Given the description of an element on the screen output the (x, y) to click on. 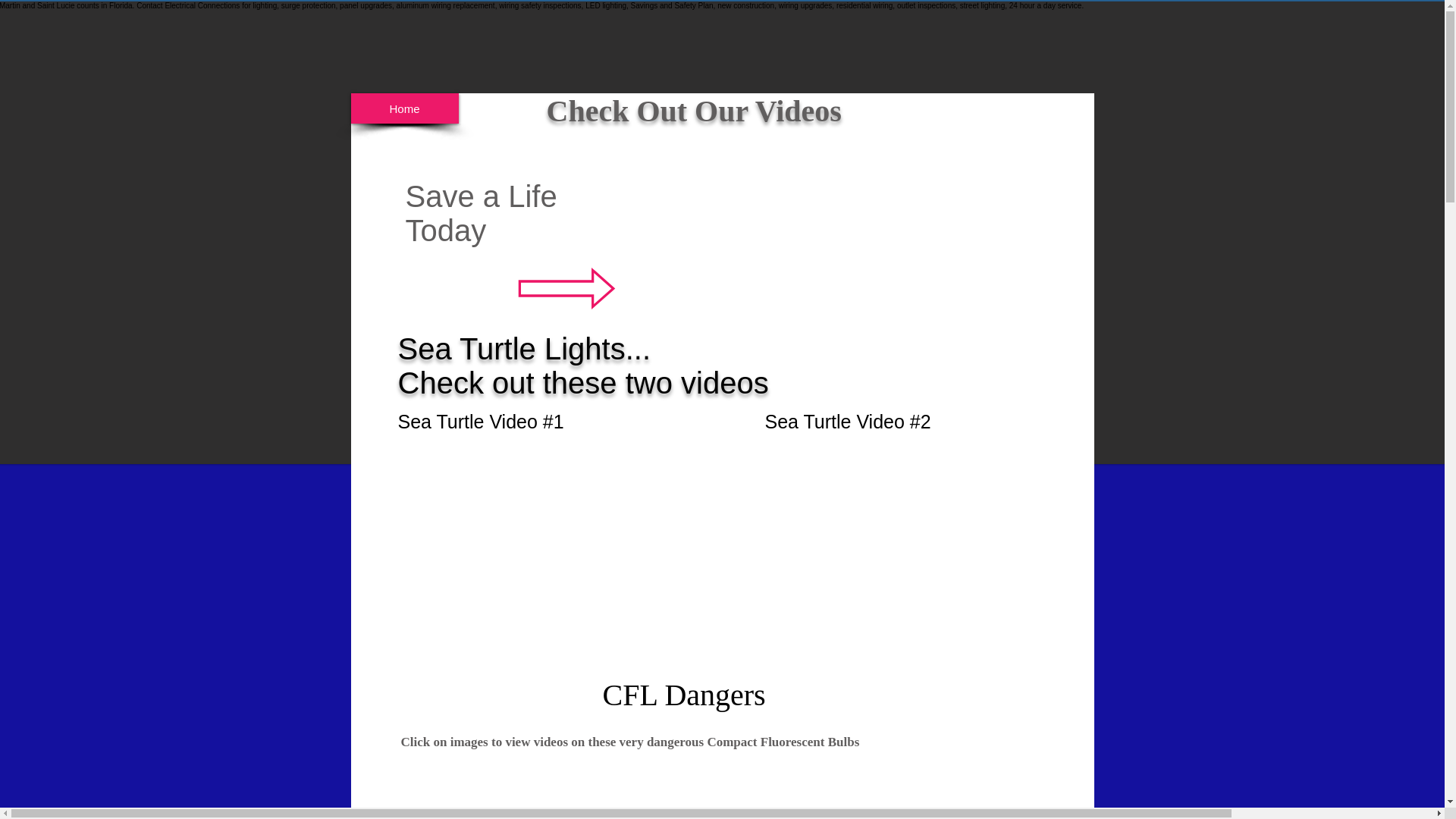
External YouTube (527, 800)
External YouTube (895, 800)
External YouTube (847, 254)
External YouTube (898, 575)
External YouTube (537, 575)
Home (404, 108)
